Given the description of an element on the screen output the (x, y) to click on. 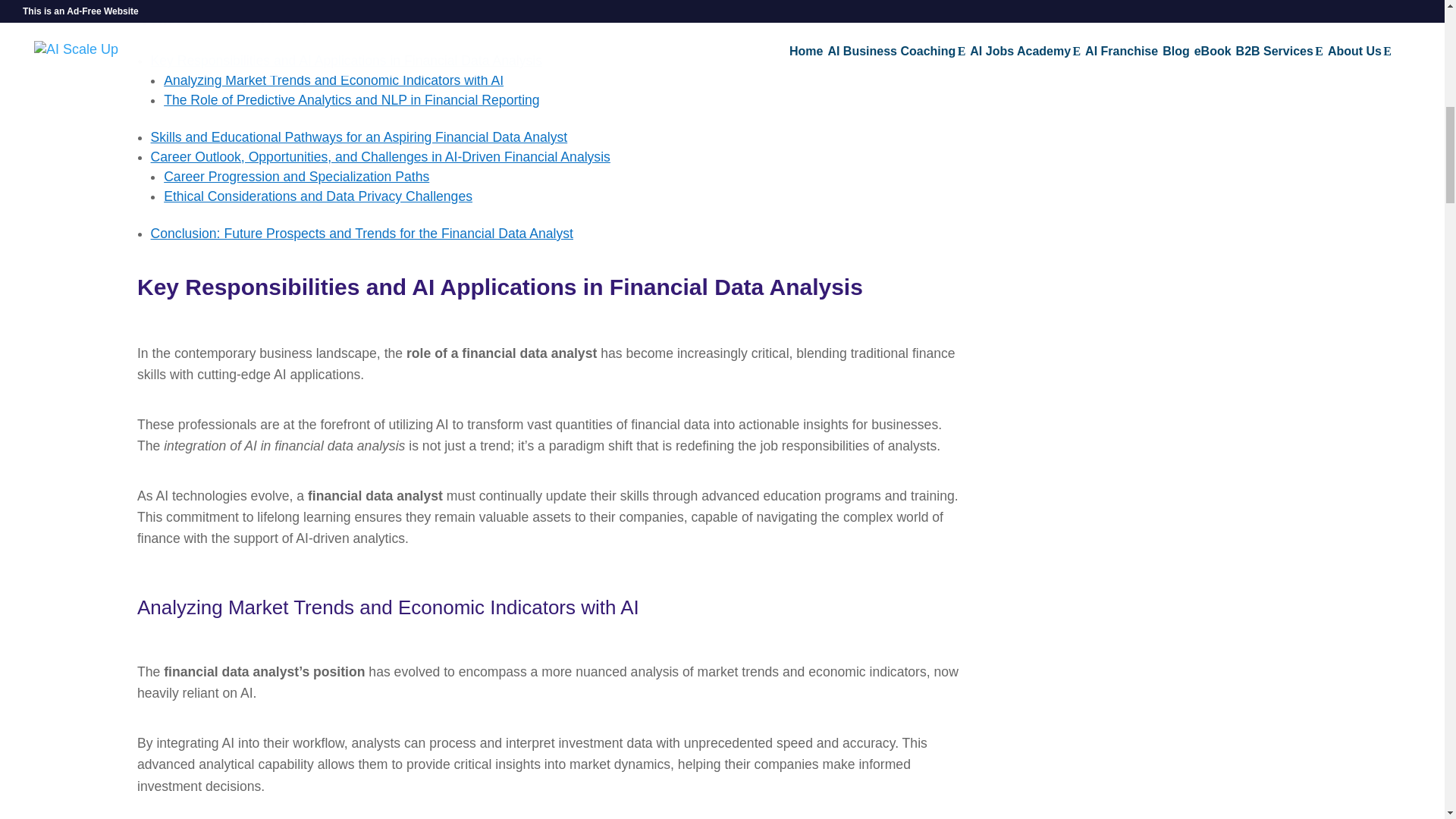
Ethical Considerations and Data Privacy Challenges (317, 196)
Career Progression and Specialization Paths (296, 176)
Analyzing Market Trends and Economic Indicators with AI (333, 79)
